Given the description of an element on the screen output the (x, y) to click on. 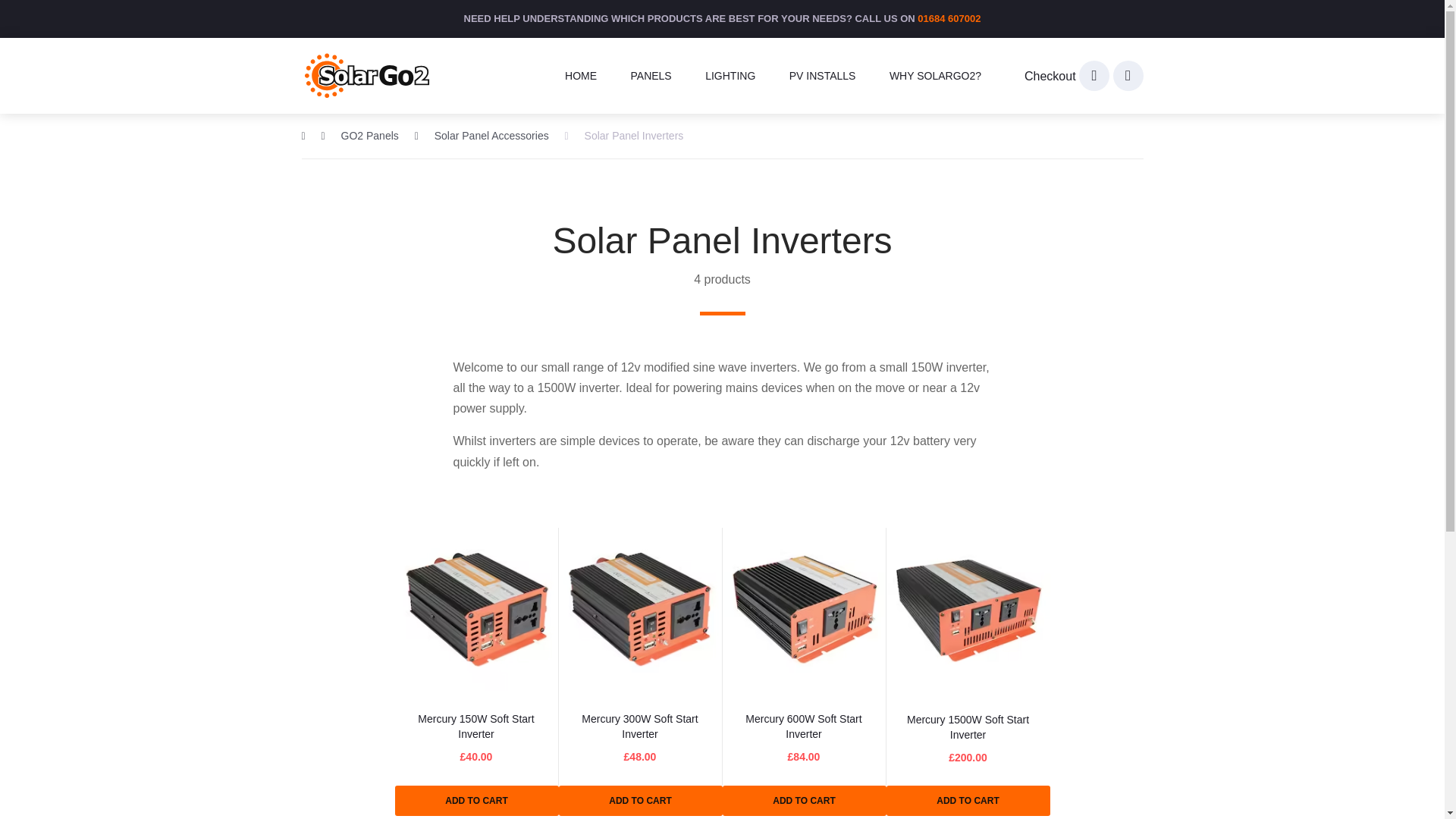
Call SolarGo2 (1127, 75)
Solar Panel Inverters (624, 135)
HOME (580, 75)
ADD TO CART (639, 800)
ADD TO CART (967, 800)
PANELS (651, 75)
Your cart is empty (1093, 75)
ADD TO CART (803, 800)
PV INSTALLS (822, 75)
Home (309, 135)
There are many reasons to buy your solar panel from SolarGo2 (935, 75)
GO2 Panels (359, 135)
Mercury 150W Soft Start Inverter (475, 726)
ADD TO CART (475, 800)
Mercury 600W Soft Start Inverter (803, 726)
